Given the description of an element on the screen output the (x, y) to click on. 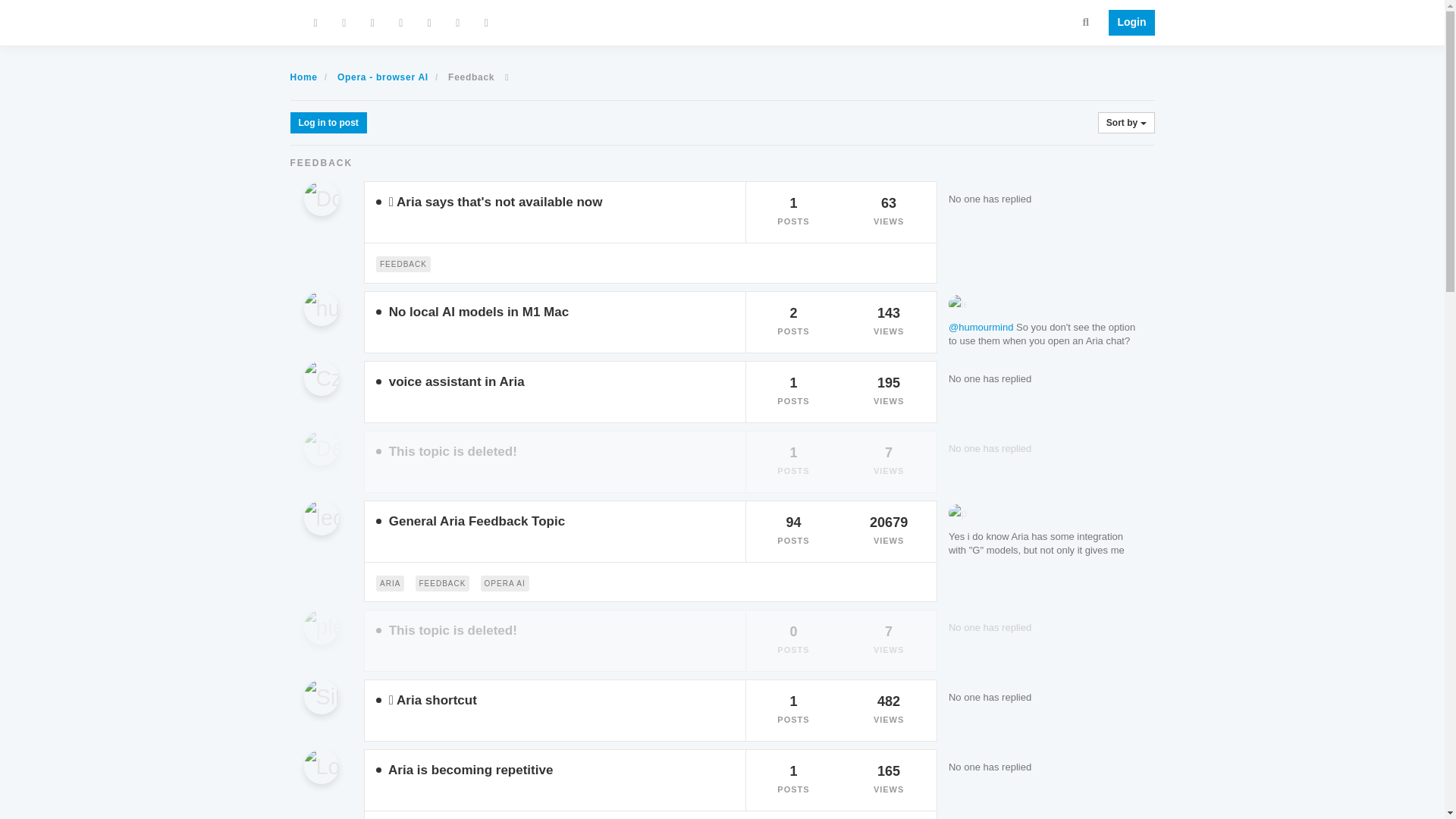
No local AI models in M1 Mac (478, 311)
Dorhero (328, 201)
Sort by (1125, 122)
Search (1085, 21)
FEEDBACK (402, 262)
Home (303, 77)
Log in to post (327, 122)
Dorhero (319, 198)
Aria says that's not available now (499, 201)
Login (1127, 22)
Opera - browser AI (382, 77)
humourmind (328, 312)
63 (888, 202)
